Given the description of an element on the screen output the (x, y) to click on. 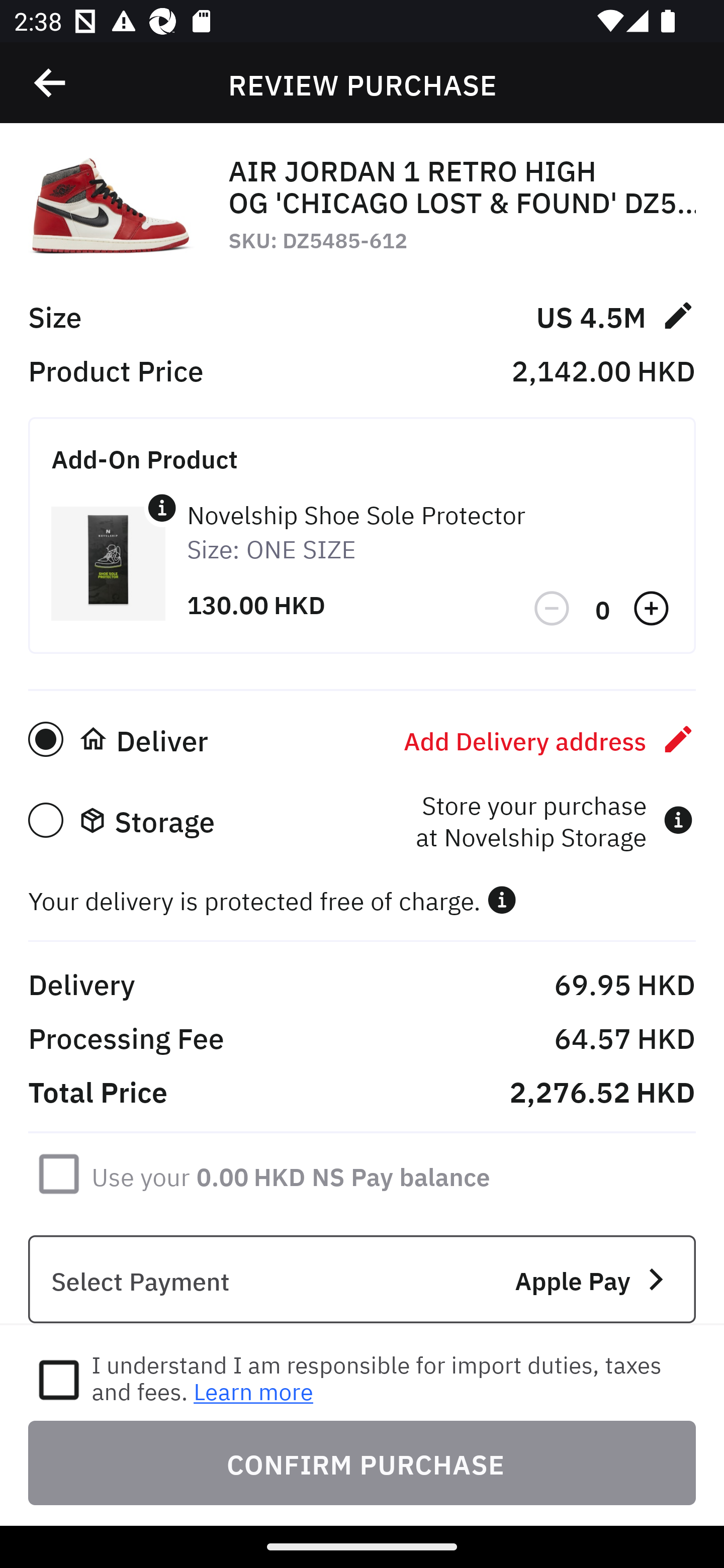
 (50, 83)
US 4.5M 󰏫 (615, 314)
 (162, 507)
 (553, 608)
 (652, 608)
󰚡 Deliver Add Delivery address 󰏫 (361, 739)
Add Delivery address 󰏫 (549, 739)
Store your purchase
at Novelship Storage  (554, 819)
 (501, 899)
Use your 0.00 HKD NS Pay balance (290, 1173)
Select Payment Apple Pay  (361, 1279)
 CONFIRM PURCHASE (361, 1462)
